Given the description of an element on the screen output the (x, y) to click on. 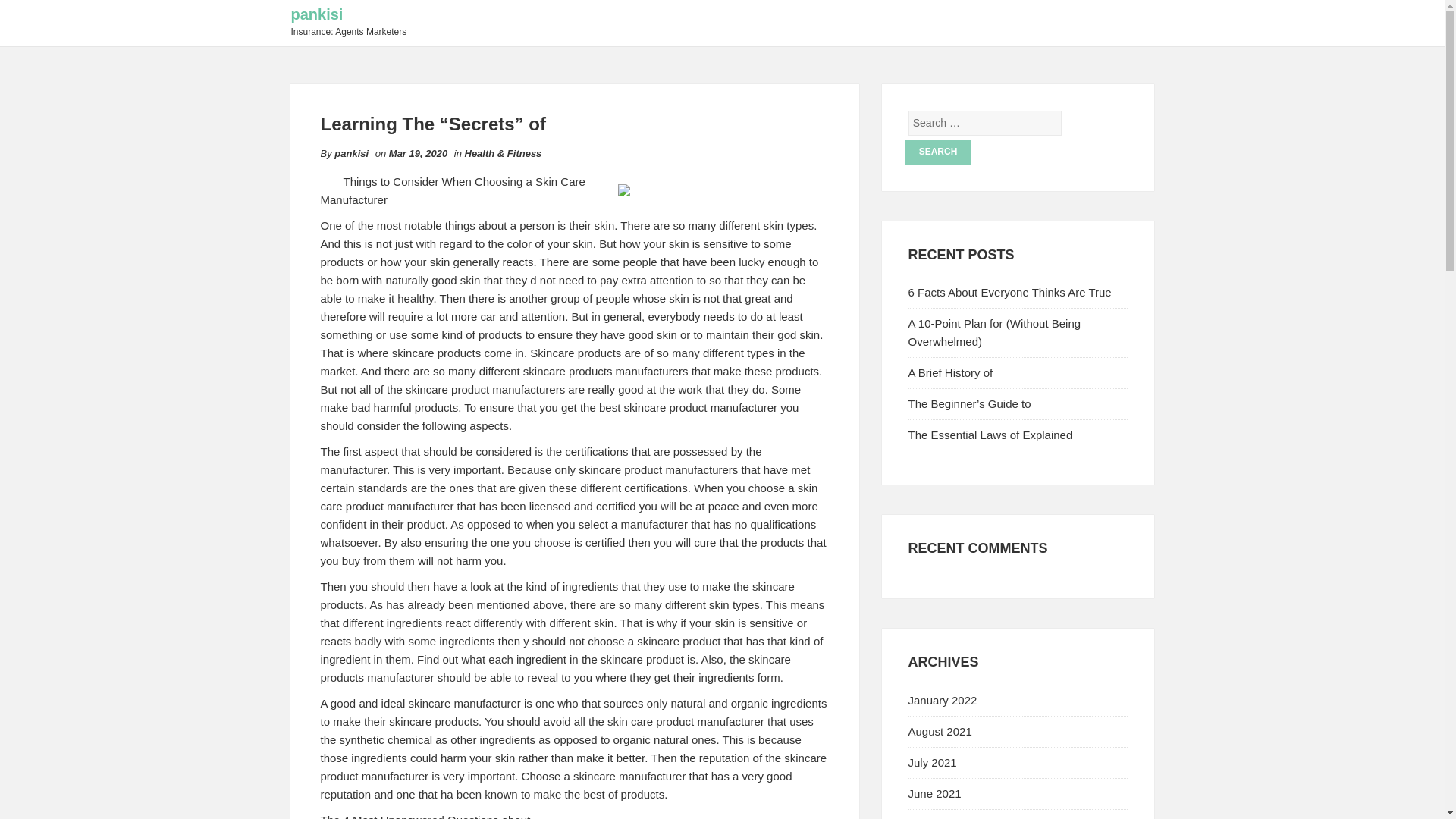
Search (938, 151)
Search (938, 151)
Search (938, 151)
August 2021 (940, 730)
pankisi (317, 13)
6 Facts About Everyone Thinks Are True (1010, 291)
July 2021 (932, 762)
The 4 Most Unanswered Questions about (424, 816)
A Brief History of (950, 372)
January 2022 (942, 699)
pankisi (351, 153)
May 2021 (933, 818)
June 2021 (934, 793)
The Essential Laws of Explained (990, 434)
